Given the description of an element on the screen output the (x, y) to click on. 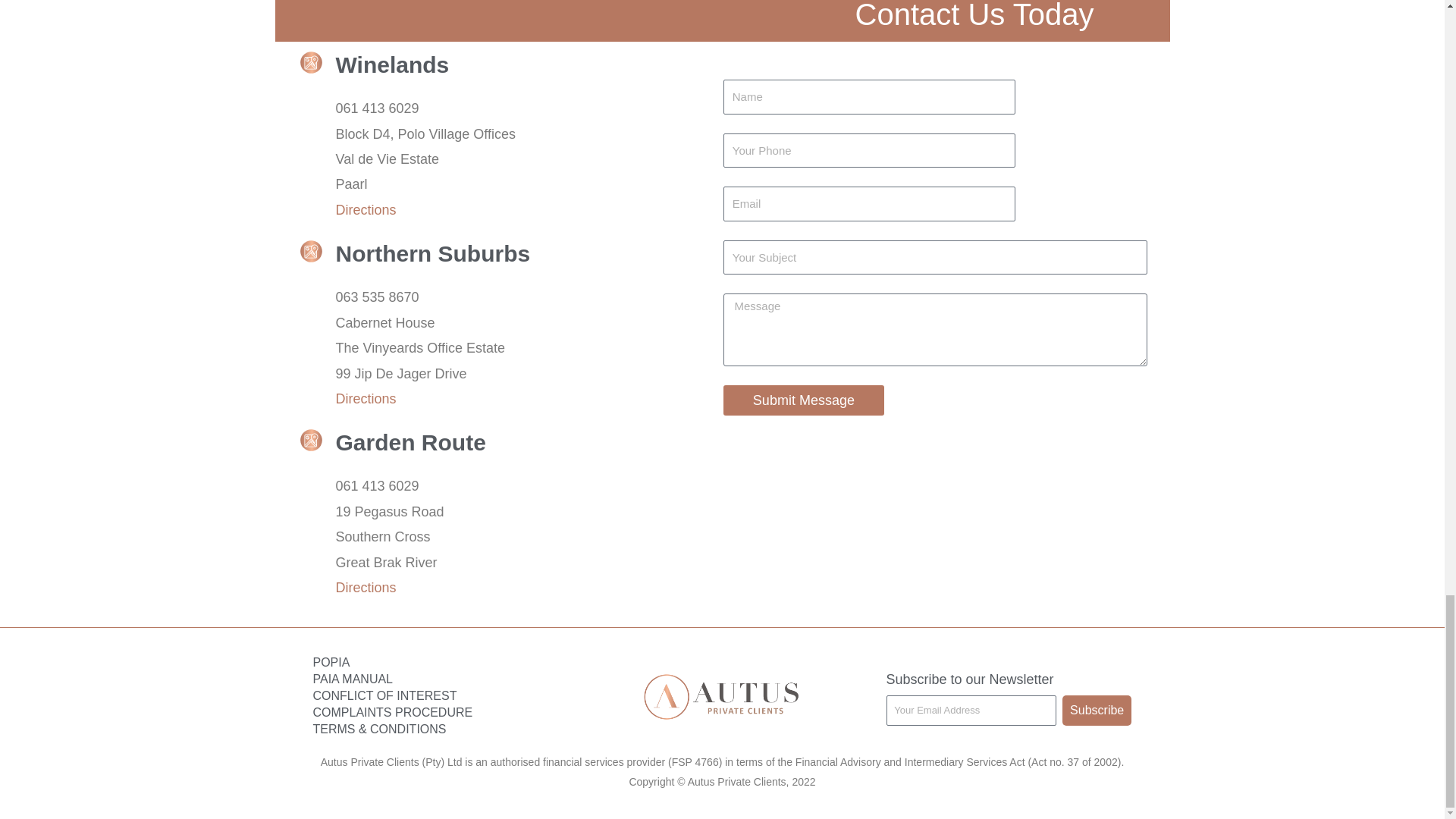
PAIA MANUAL (435, 678)
CONFLICT OF INTEREST (435, 695)
Winelands (391, 64)
COMPLAINTS PROCEDURE (435, 712)
Subscribe (1097, 710)
POPIA (435, 662)
Submit Message (804, 399)
Northern Suburbs (431, 253)
Directions (365, 209)
Garden Route (409, 442)
